Given the description of an element on the screen output the (x, y) to click on. 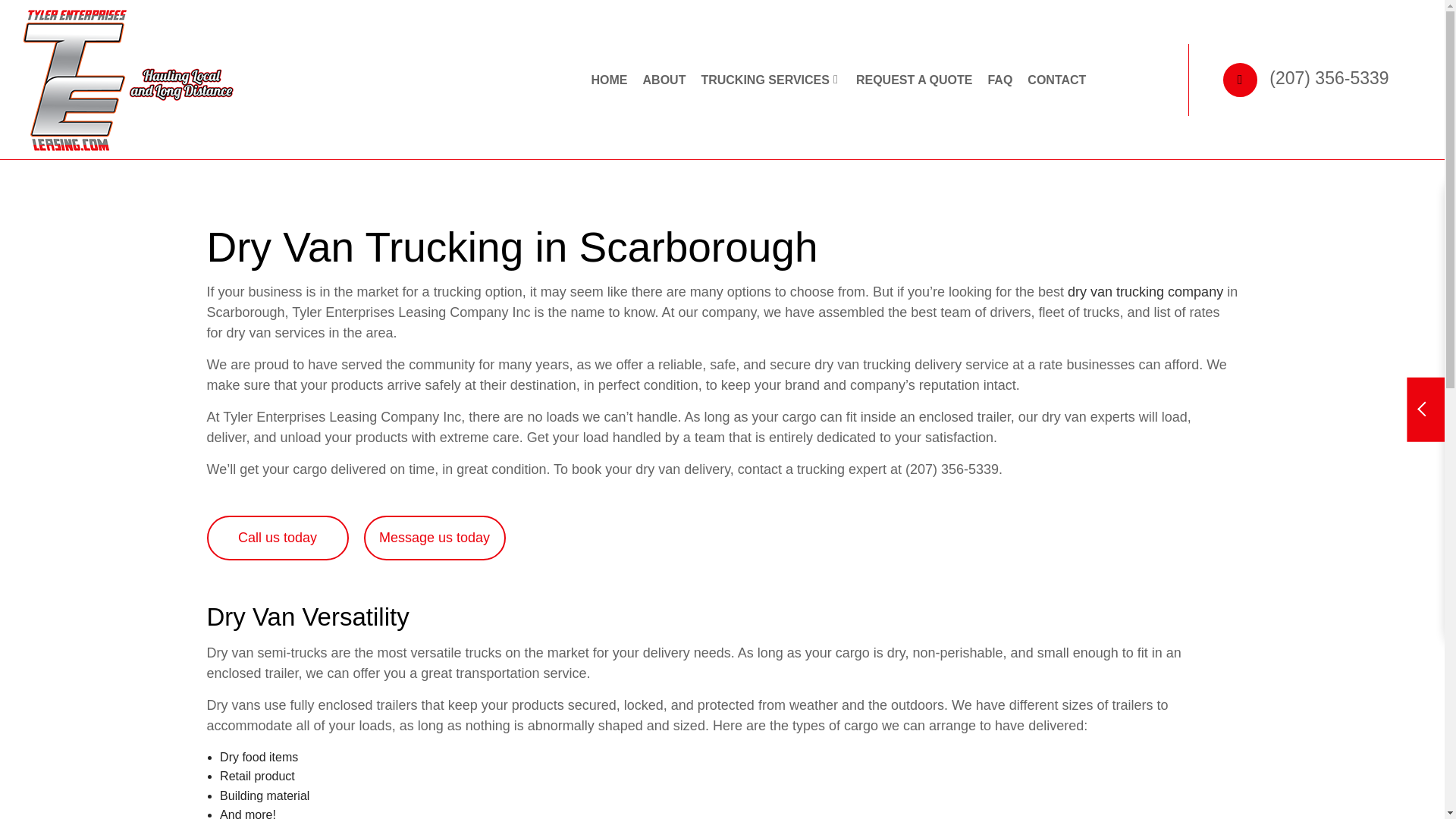
FREIGHT SHIPPING (846, 180)
LONG HAUL TRUCKING (651, 259)
HAULING SERVICES (846, 206)
Tyler Enterprises Leasing Company Inc (129, 78)
Learn more about trucking services (1145, 290)
LOCAL TRUCKING COMPANY (651, 233)
FREIGHT TRANSPORTATION (651, 206)
FLATBED TRUCKING (651, 180)
EXPEDITED TRUCKING (846, 153)
Send us a message (434, 537)
